Given the description of an element on the screen output the (x, y) to click on. 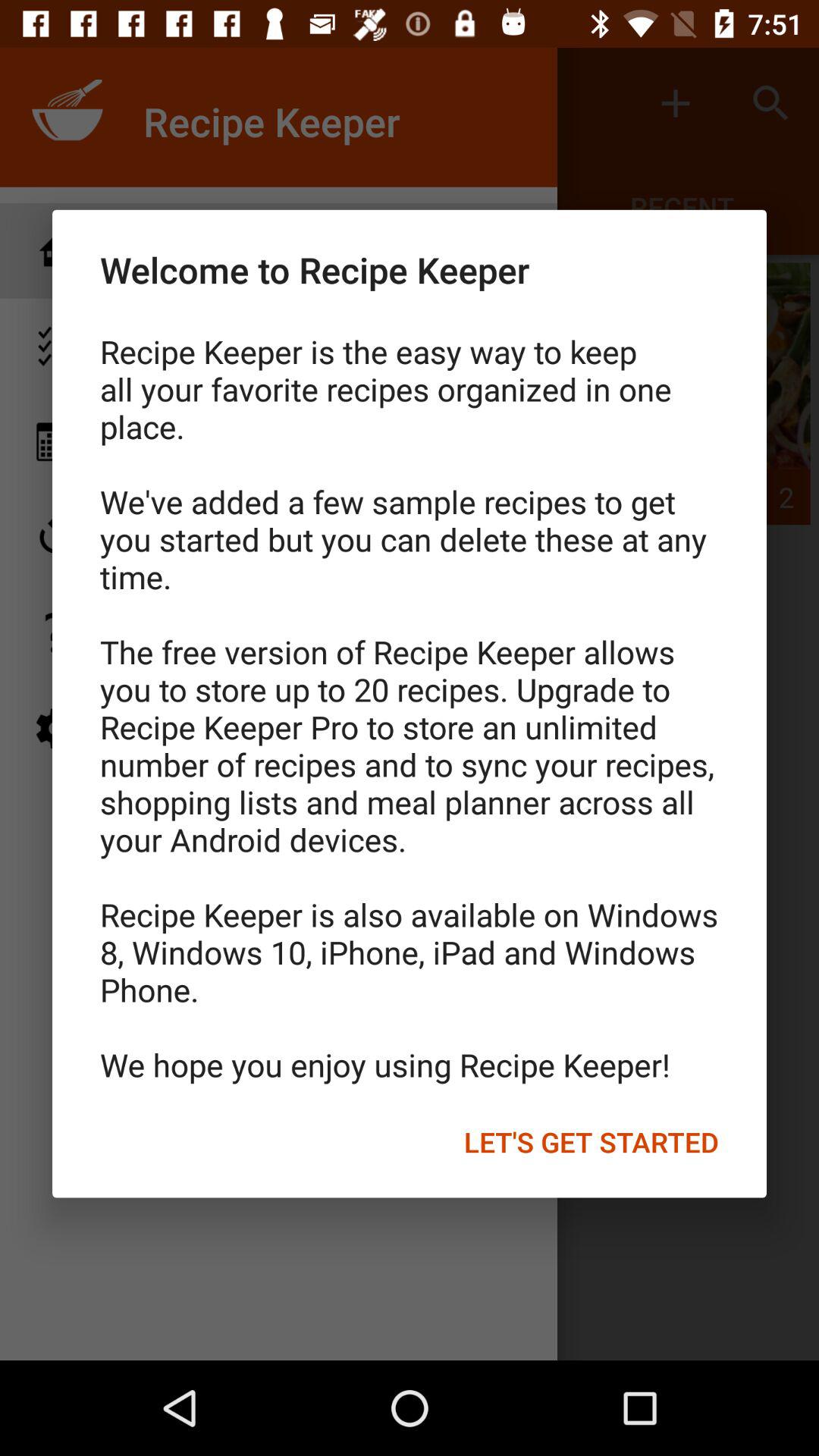
launch the let s get item (591, 1141)
